Given the description of an element on the screen output the (x, y) to click on. 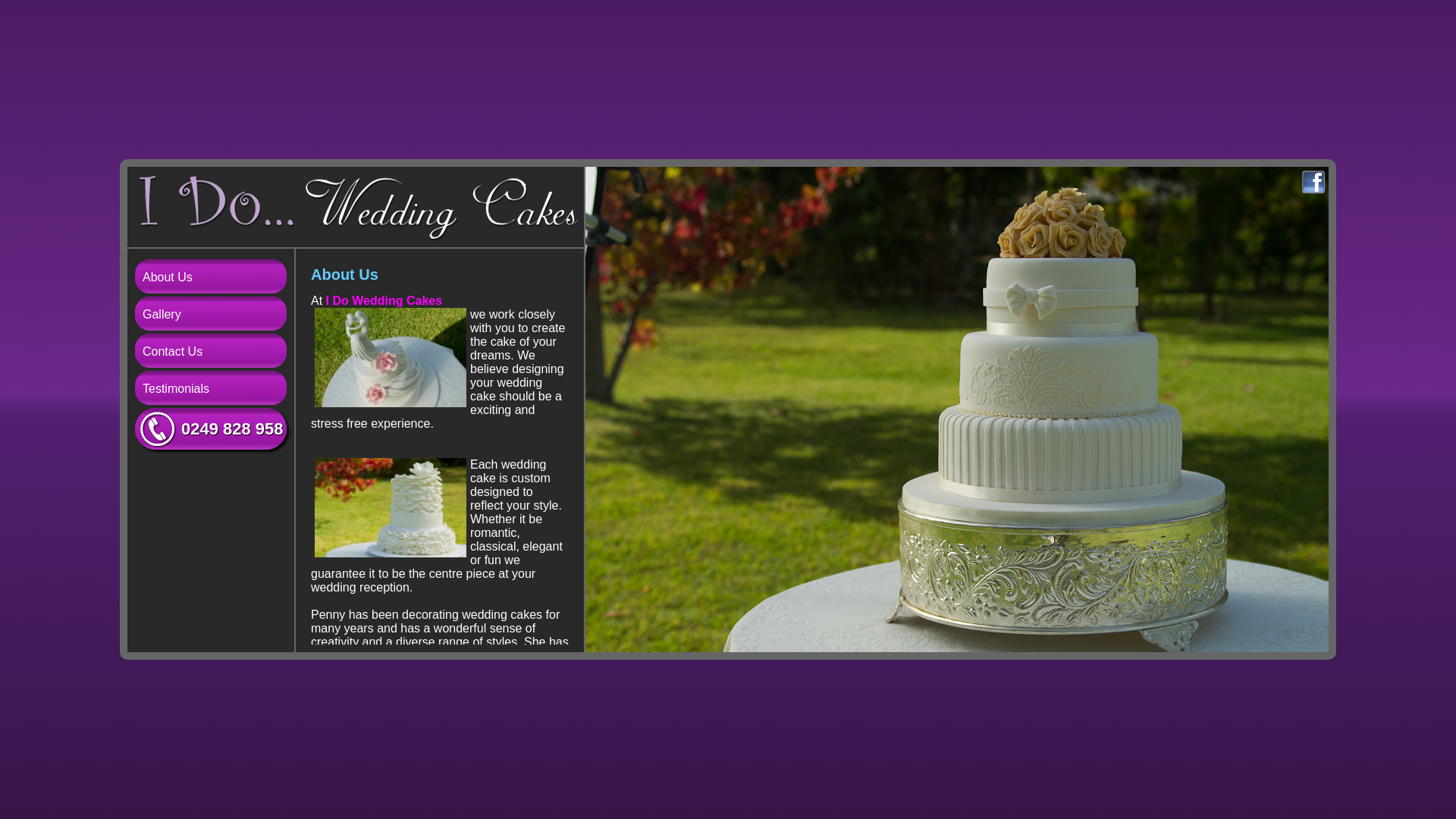
0249 828 958 Element type: text (232, 427)
About Us Element type: text (210, 276)
0249 828 958 Element type: text (210, 428)
Testimonials Element type: text (210, 387)
Gallery Element type: text (210, 313)
Contact Us Element type: text (210, 350)
